Given the description of an element on the screen output the (x, y) to click on. 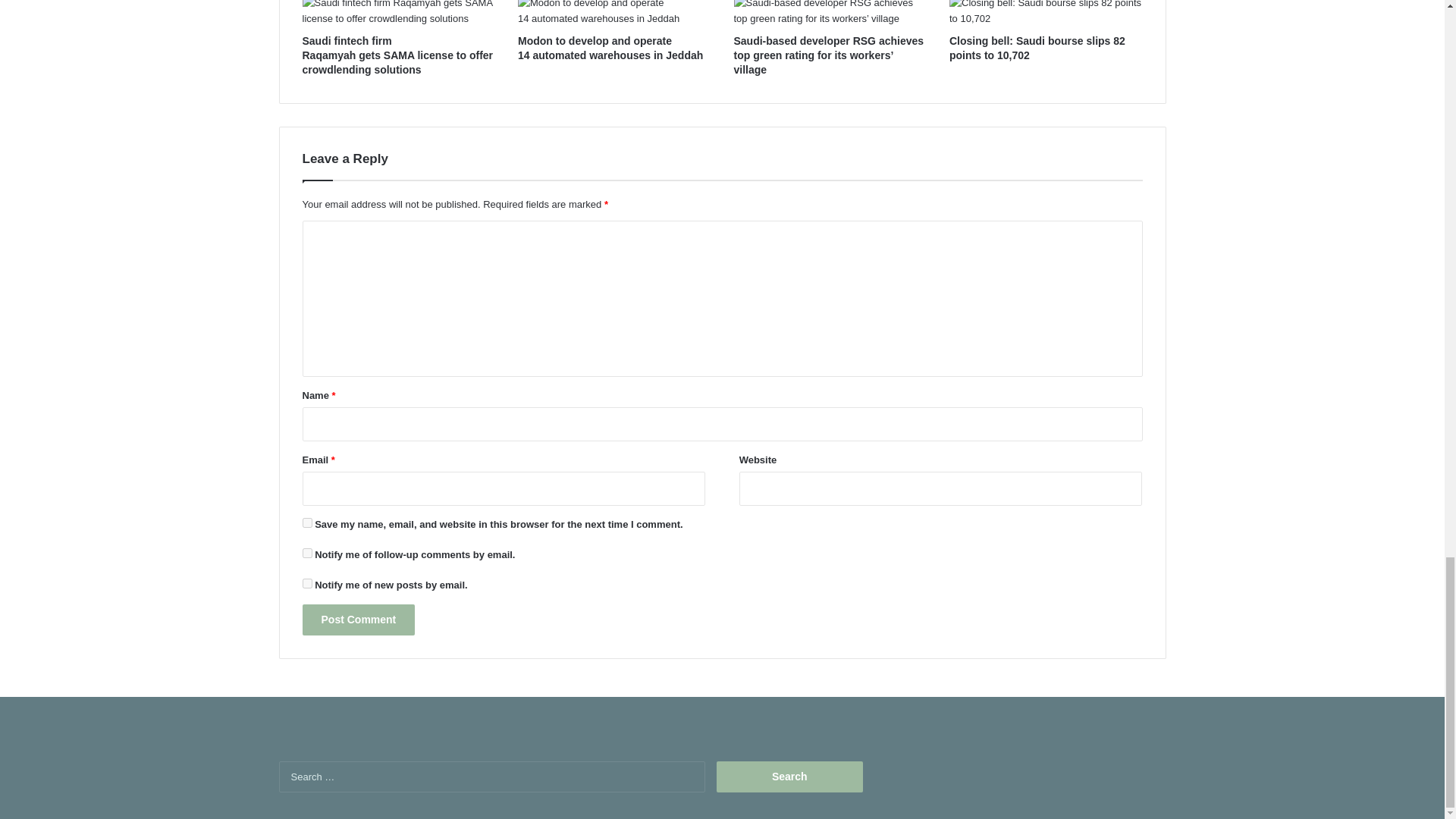
Search (789, 776)
subscribe (306, 583)
yes (306, 522)
Post Comment (357, 619)
subscribe (306, 552)
Search (789, 776)
